Given the description of an element on the screen output the (x, y) to click on. 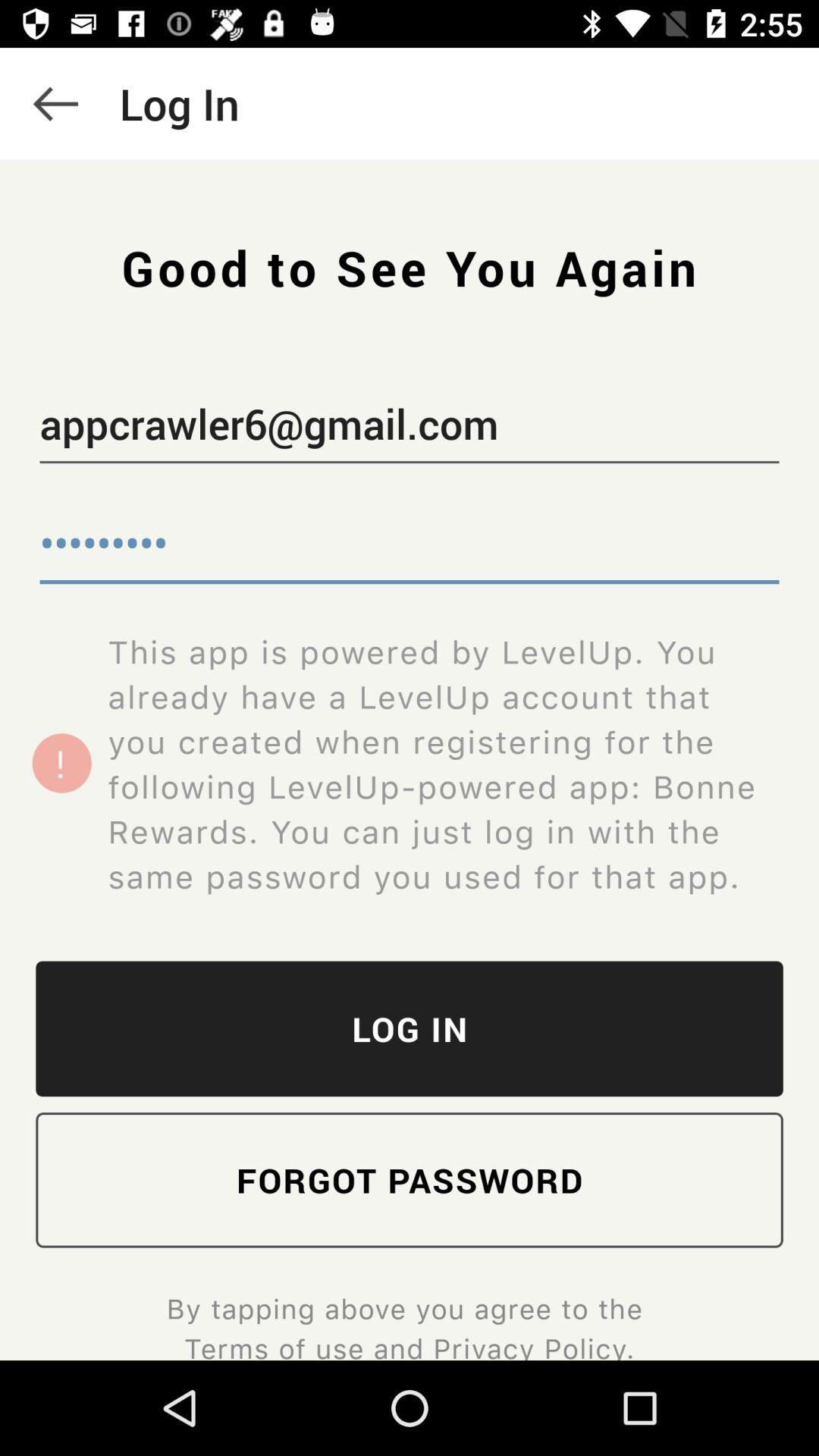
press the icon above the crowd3116 icon (409, 426)
